Given the description of an element on the screen output the (x, y) to click on. 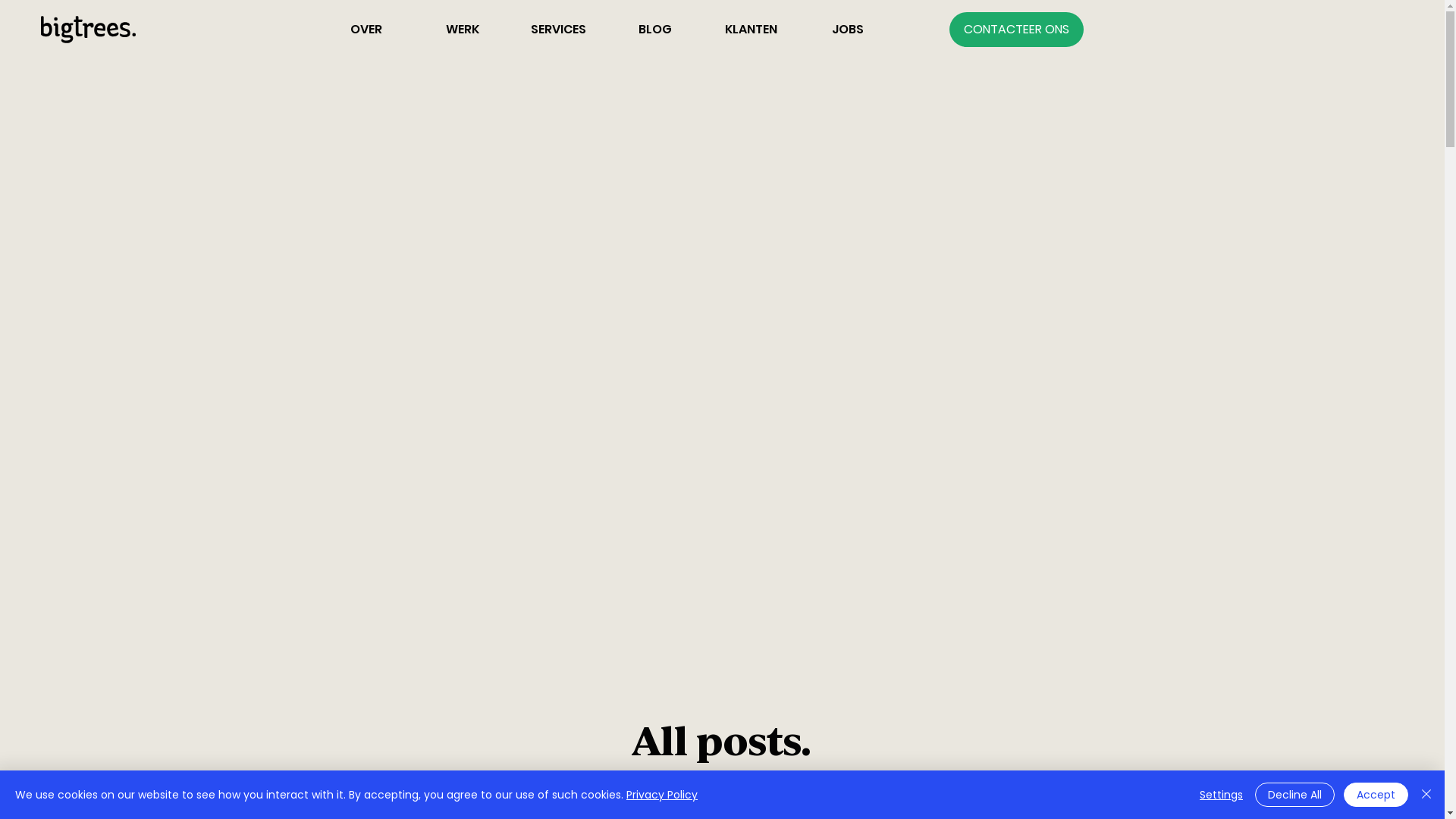
Privacy Policy Element type: text (661, 794)
KLANTEN Element type: text (750, 29)
Accept Element type: text (1375, 794)
SERVICES Element type: text (558, 29)
BLOG Element type: text (654, 29)
CONTACTEER ONS Element type: text (1016, 29)
Decline All Element type: text (1294, 794)
OVER Element type: text (365, 29)
JOBS Element type: text (847, 29)
WERK Element type: text (462, 29)
